Given the description of an element on the screen output the (x, y) to click on. 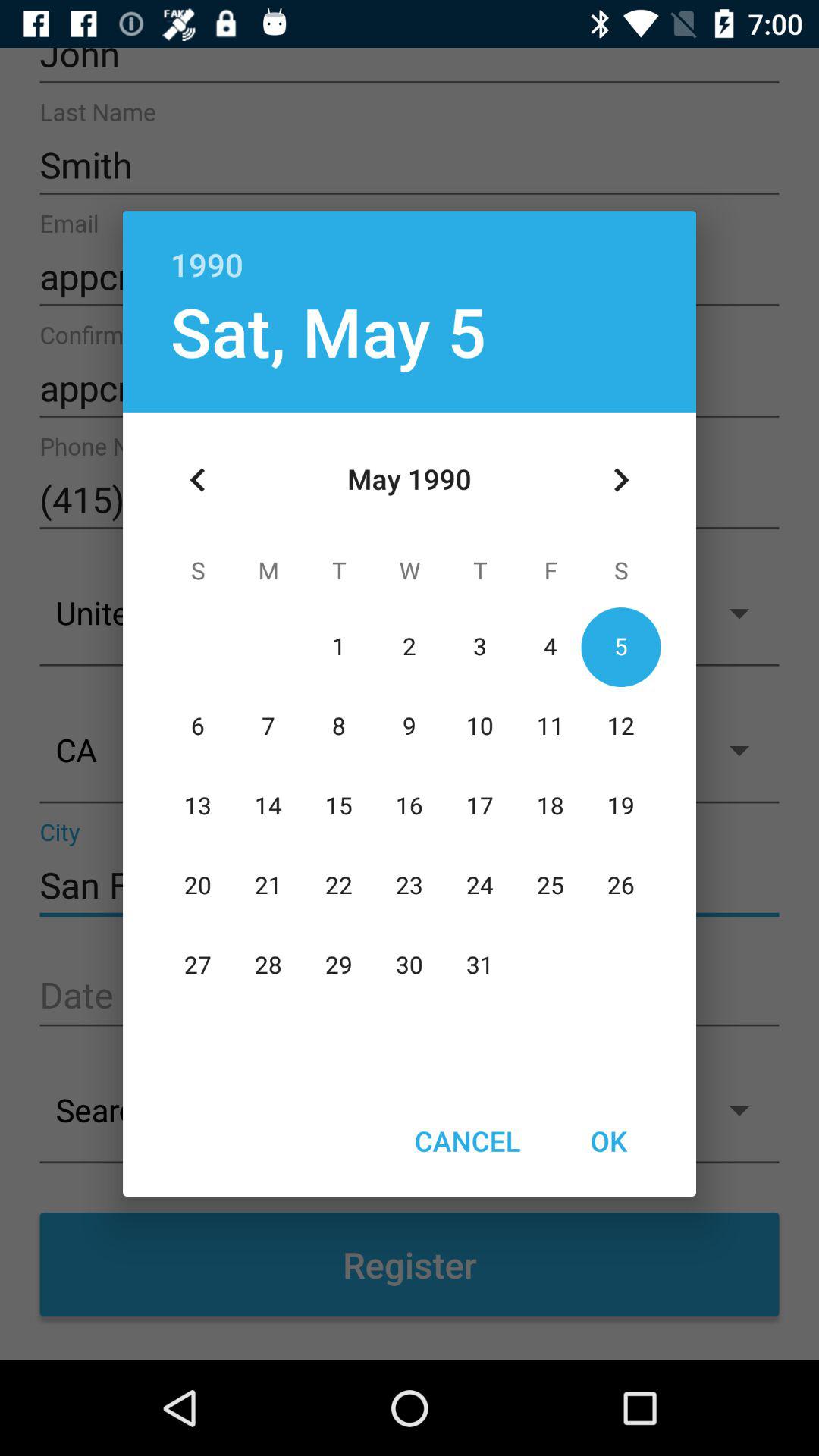
launch the item at the bottom right corner (608, 1140)
